Given the description of an element on the screen output the (x, y) to click on. 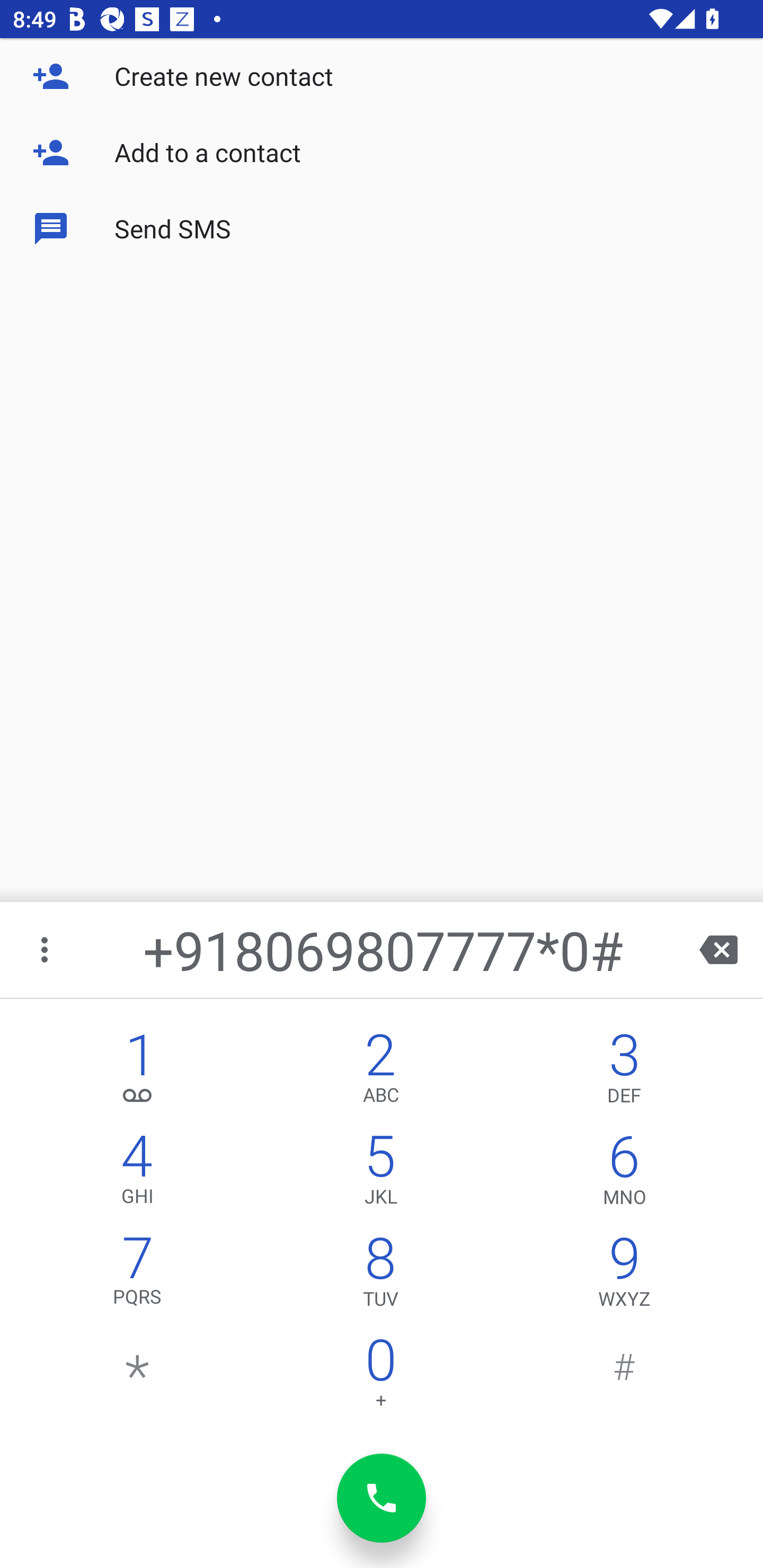
Create new contact (381, 75)
Add to a contact (381, 152)
Send SMS (381, 228)
+918069807777*0# (382, 949)
backspace (718, 949)
More options (45, 949)
1, 1 (137, 1071)
2,ABC 2 ABC (380, 1071)
3,DEF 3 DEF (624, 1071)
4,GHI 4 GHI (137, 1173)
5,JKL 5 JKL (380, 1173)
6,MNO 6 MNO (624, 1173)
7,PQRS 7 PQRS (137, 1275)
8,TUV 8 TUV (380, 1275)
9,WXYZ 9 WXYZ (624, 1275)
* (137, 1377)
0 0 + (380, 1377)
# (624, 1377)
dial (381, 1497)
